Given the description of an element on the screen output the (x, y) to click on. 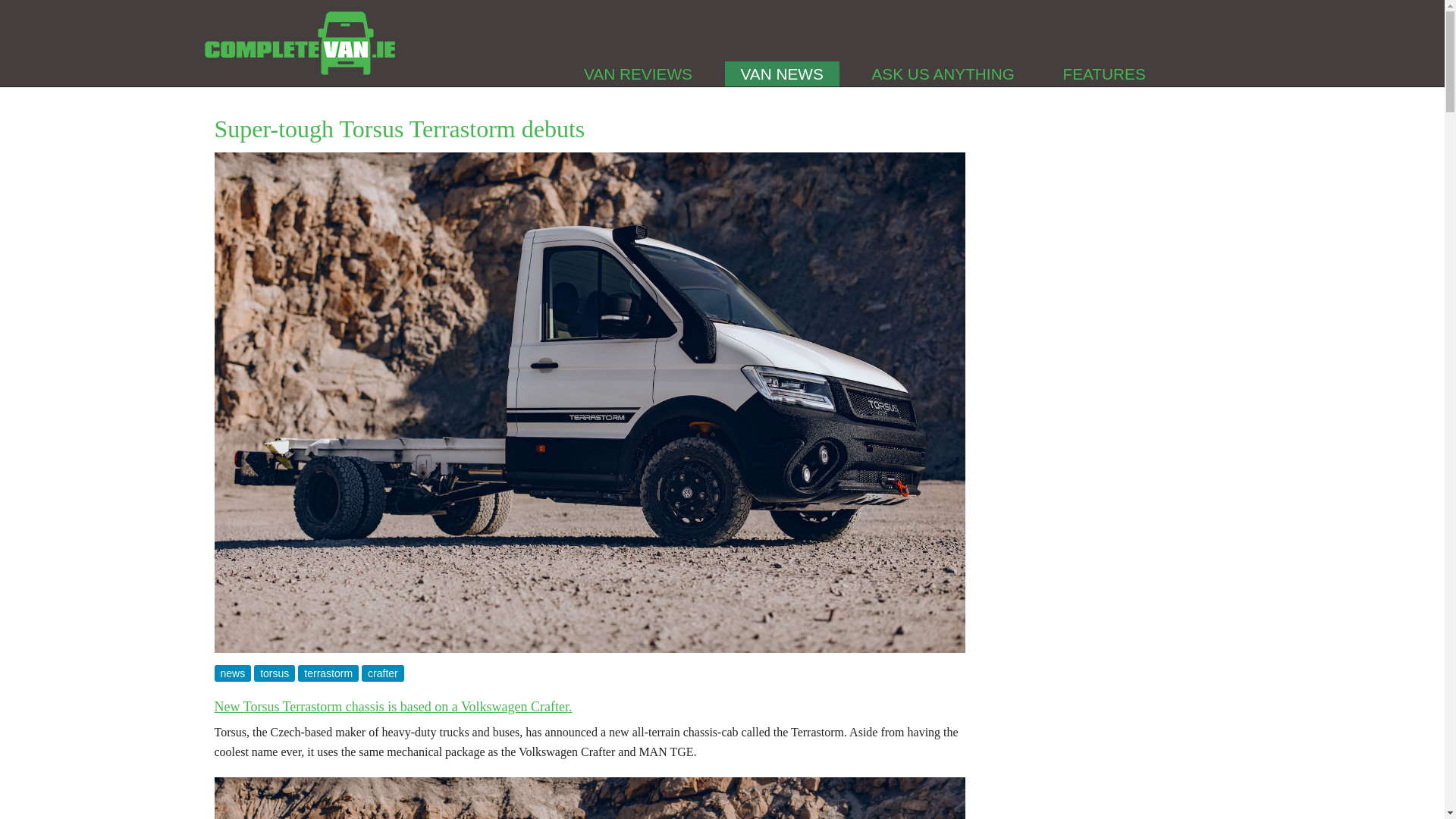
New van reviews, first drives, road tests, twin tests, etc. (637, 73)
torsus (275, 672)
crafter (382, 672)
Tax guide, van features and much more... (1103, 73)
New van news, breaking news, image galleries, etc. (782, 73)
news (233, 672)
VAN NEWS (782, 73)
ASK US ANYTHING (943, 73)
VAN REVIEWS (637, 73)
terrastorm (329, 672)
